Given the description of an element on the screen output the (x, y) to click on. 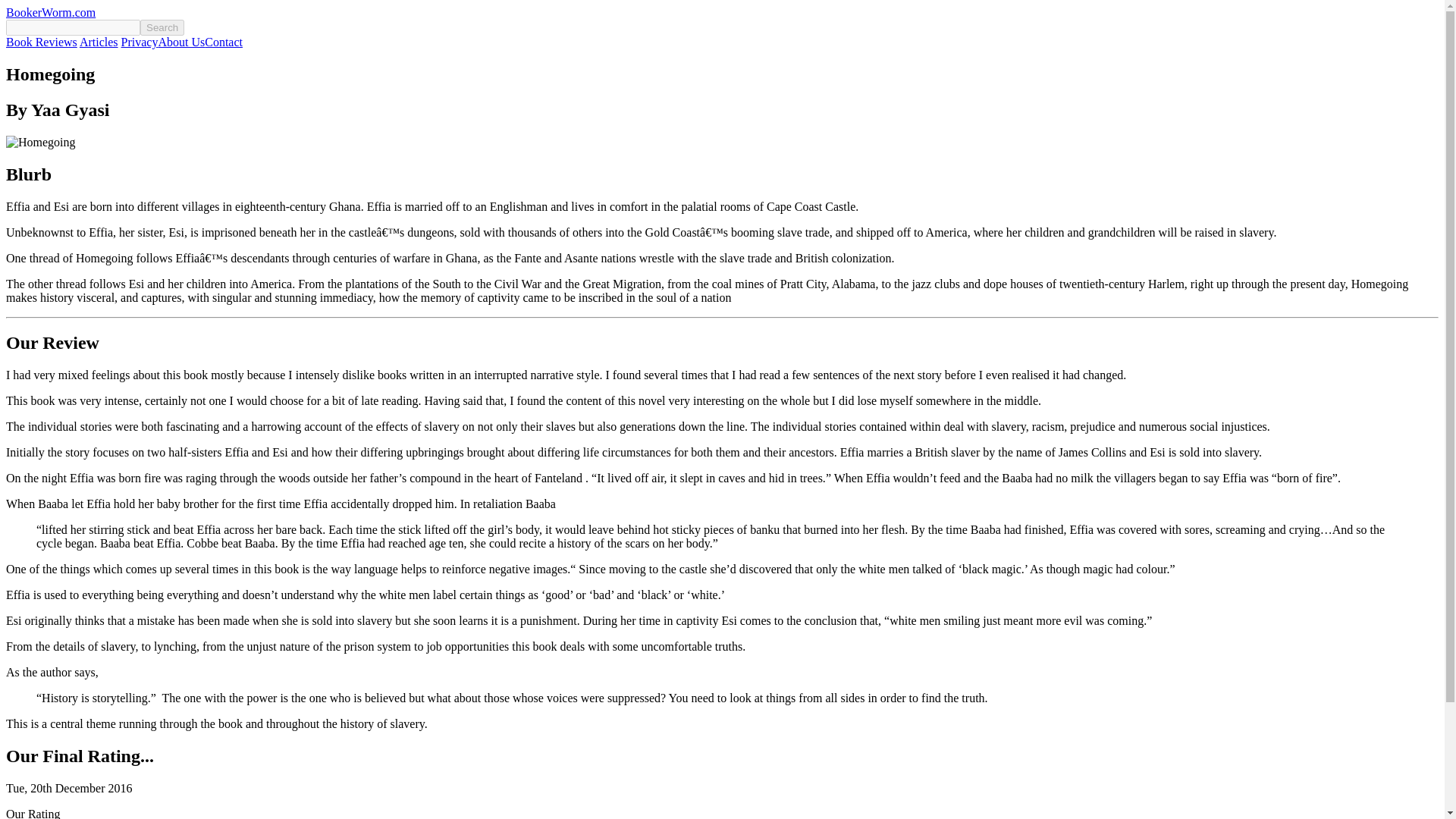
Privacy (139, 42)
Search (161, 27)
About Us (181, 42)
Articles (98, 42)
BookerWorm.com (50, 11)
Book Reviews (41, 42)
Contact (224, 42)
